Given the description of an element on the screen output the (x, y) to click on. 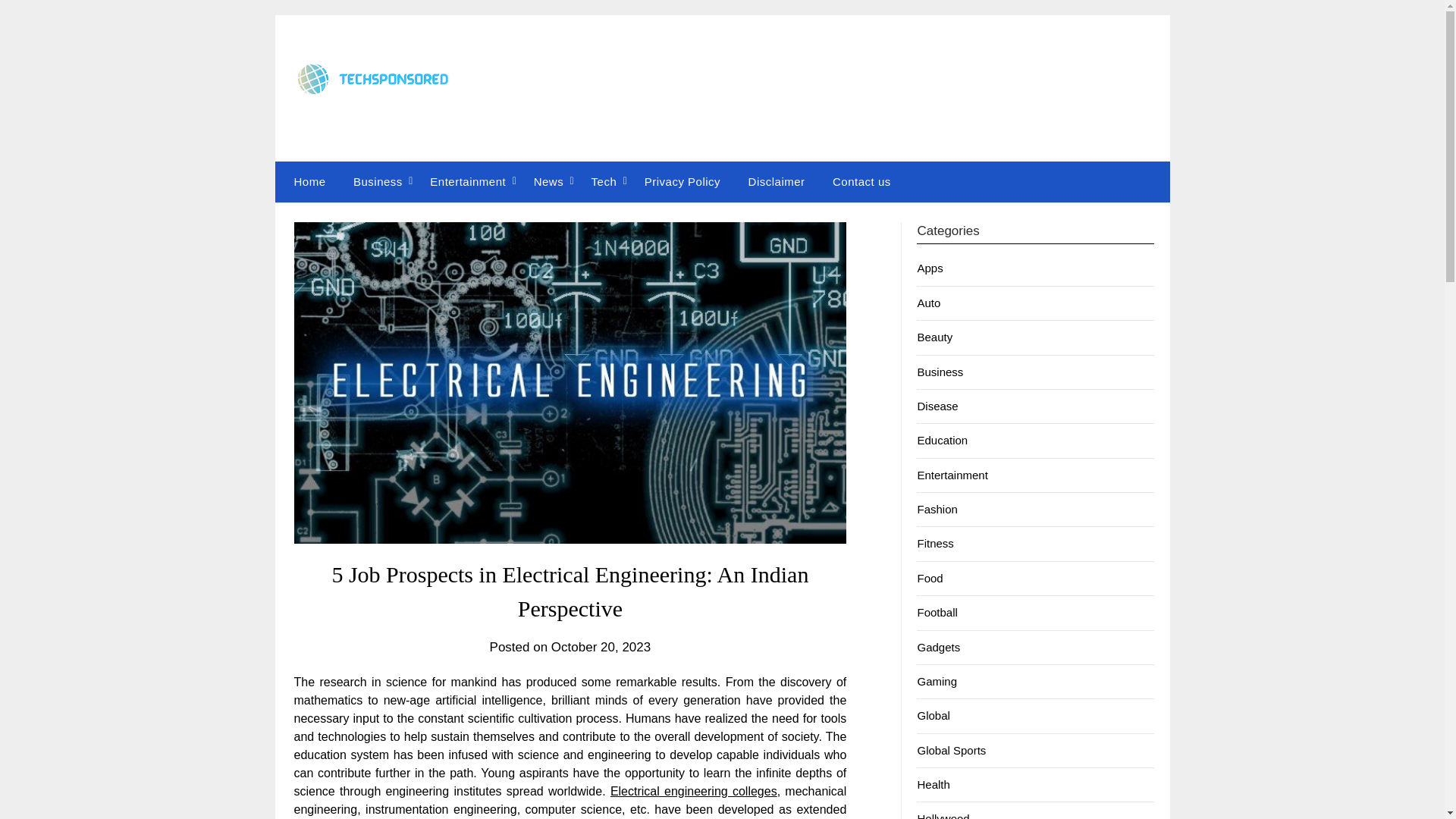
Tech (603, 181)
Fashion (936, 508)
Electrical engineering colleges (693, 790)
Home (306, 181)
Business (377, 181)
Food (929, 577)
Education (942, 440)
Apps (929, 267)
Entertainment (467, 181)
News (548, 181)
